Given the description of an element on the screen output the (x, y) to click on. 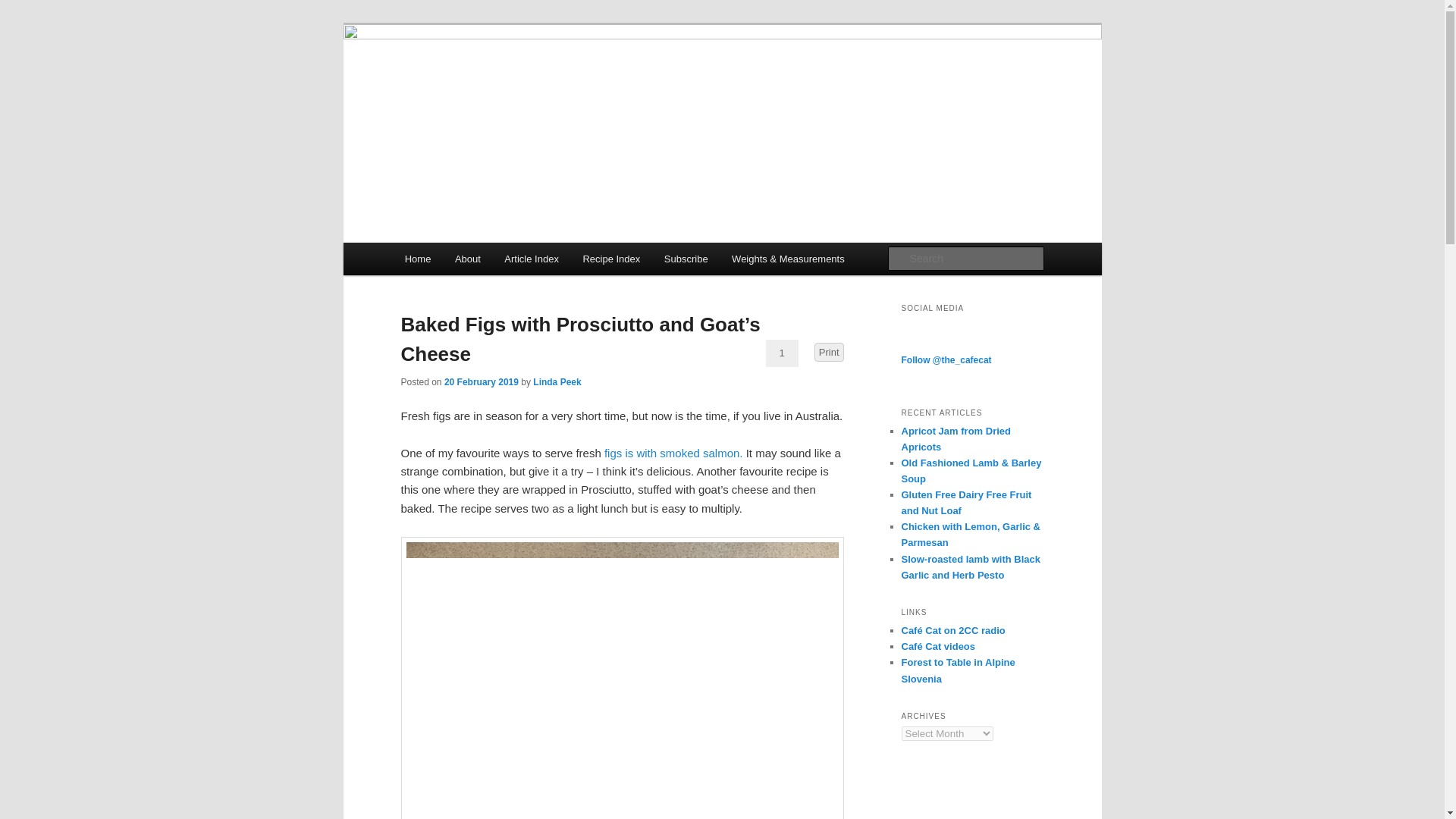
Article Index (531, 258)
1 (781, 352)
Print (828, 352)
Apricot Jam from Dried Apricots (955, 438)
Search (24, 8)
20 February 2019 (481, 380)
figs is with smoked salmon. (671, 452)
Recipe Index (611, 258)
